Given the description of an element on the screen output the (x, y) to click on. 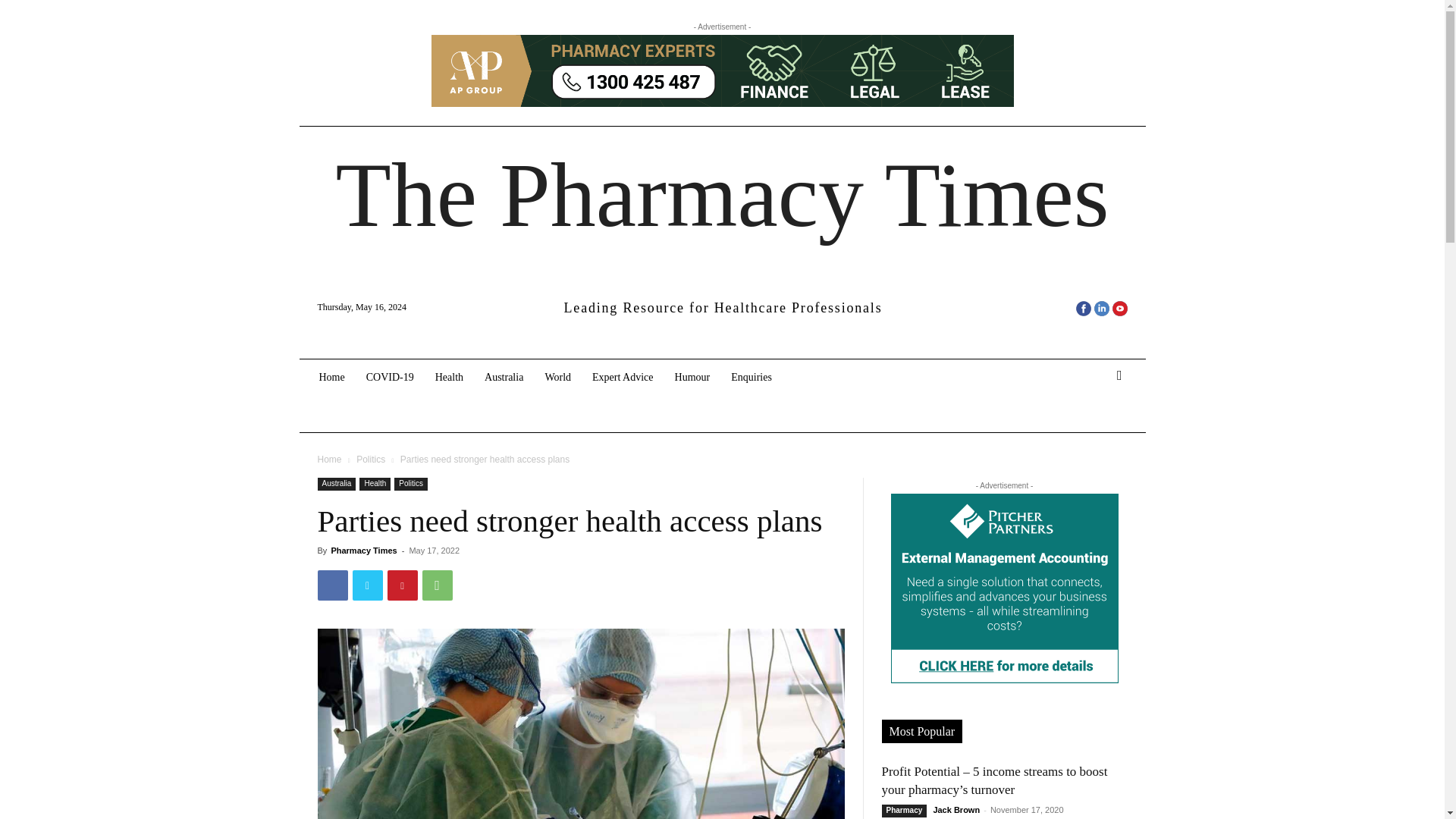
WhatsApp (436, 585)
Leading Resource for Healthcare Professionals (722, 307)
Enquiries (751, 377)
Australia (504, 377)
Expert Advice (621, 377)
COVID-19 (390, 377)
Humour (691, 377)
Twitter (366, 585)
Home (331, 377)
Health (449, 377)
Pinterest (401, 585)
Facebook (332, 585)
